Given the description of an element on the screen output the (x, y) to click on. 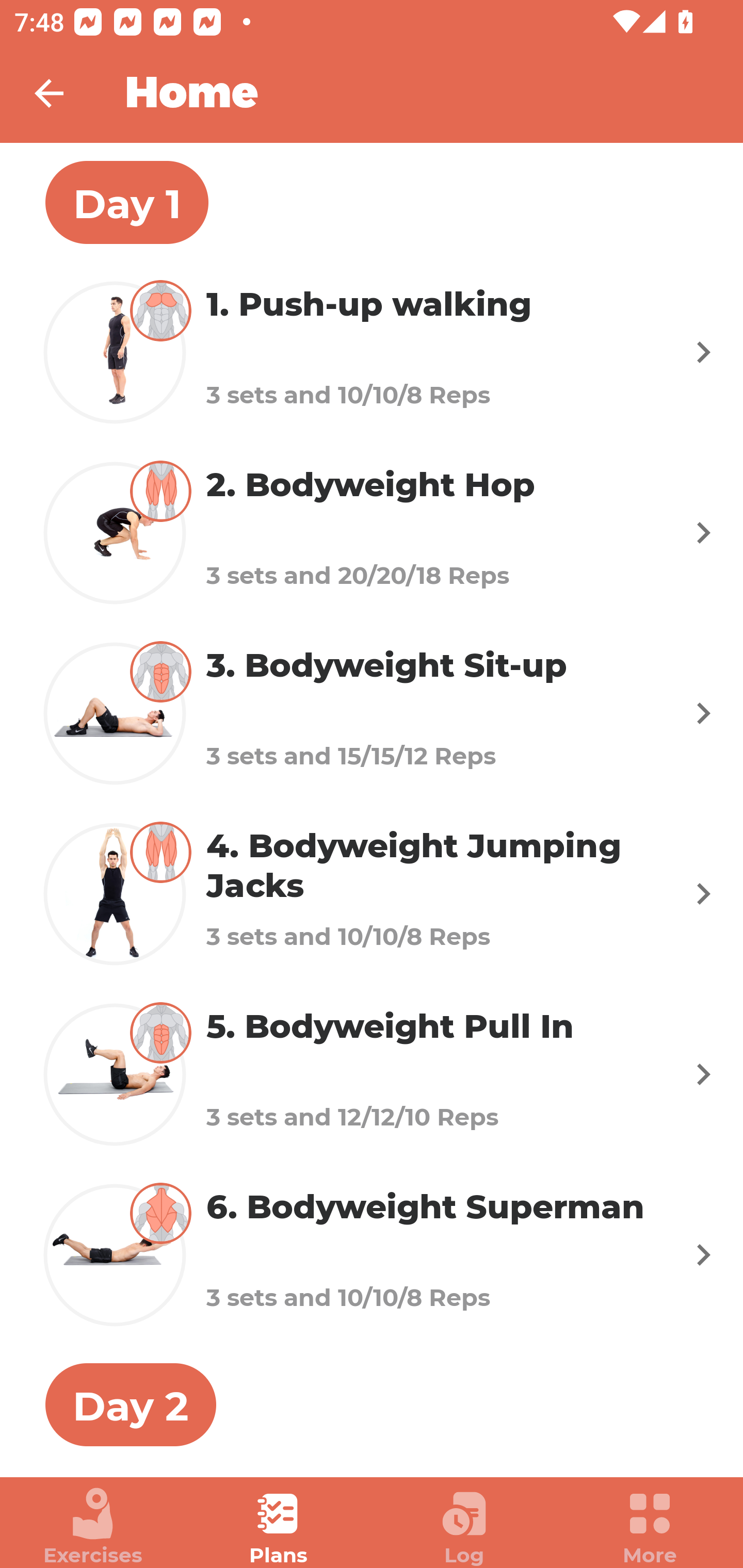
Back (62, 92)
1. Push-up walking 3 sets and 10/10/8 Reps (371, 351)
2. Bodyweight Hop 3 sets and 20/20/18 Reps (371, 532)
3. Bodyweight Sit-up 3 sets and 15/15/12 Reps (371, 712)
5. Bodyweight Pull In 3 sets and 12/12/10 Reps (371, 1074)
6. Bodyweight Superman 3 sets and 10/10/8 Reps (371, 1255)
Exercises (92, 1527)
Plans (278, 1527)
Log (464, 1527)
More (650, 1527)
